Given the description of an element on the screen output the (x, y) to click on. 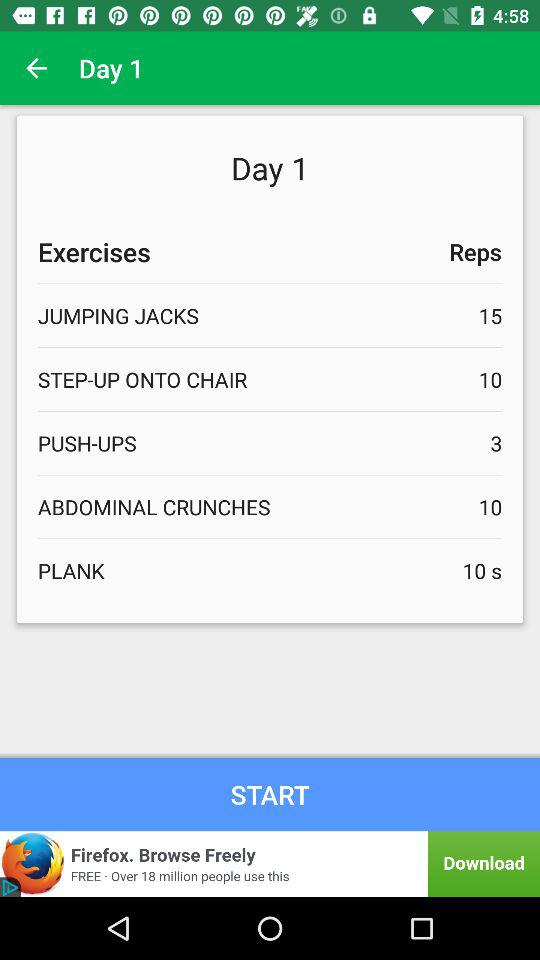
turn off app next to day 1 app (36, 68)
